Given the description of an element on the screen output the (x, y) to click on. 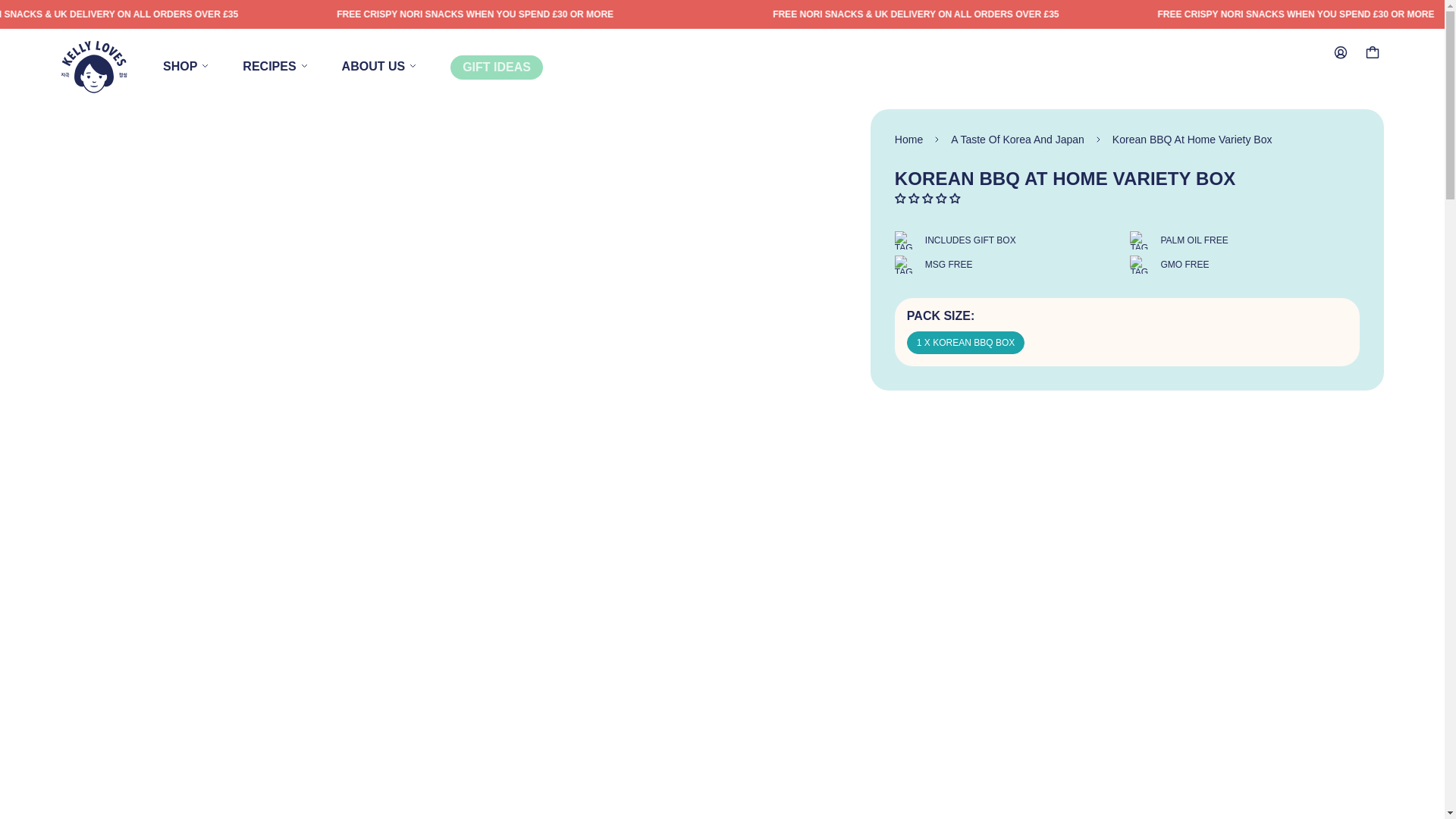
Your Bag (1372, 51)
SHOP (203, 66)
Korean BBQ At Home Variety Box (1192, 139)
Sign in (1340, 51)
Home (909, 139)
Kelly Loves Logo (94, 66)
A Taste of Korea and Japan (302, 66)
